Given the description of an element on the screen output the (x, y) to click on. 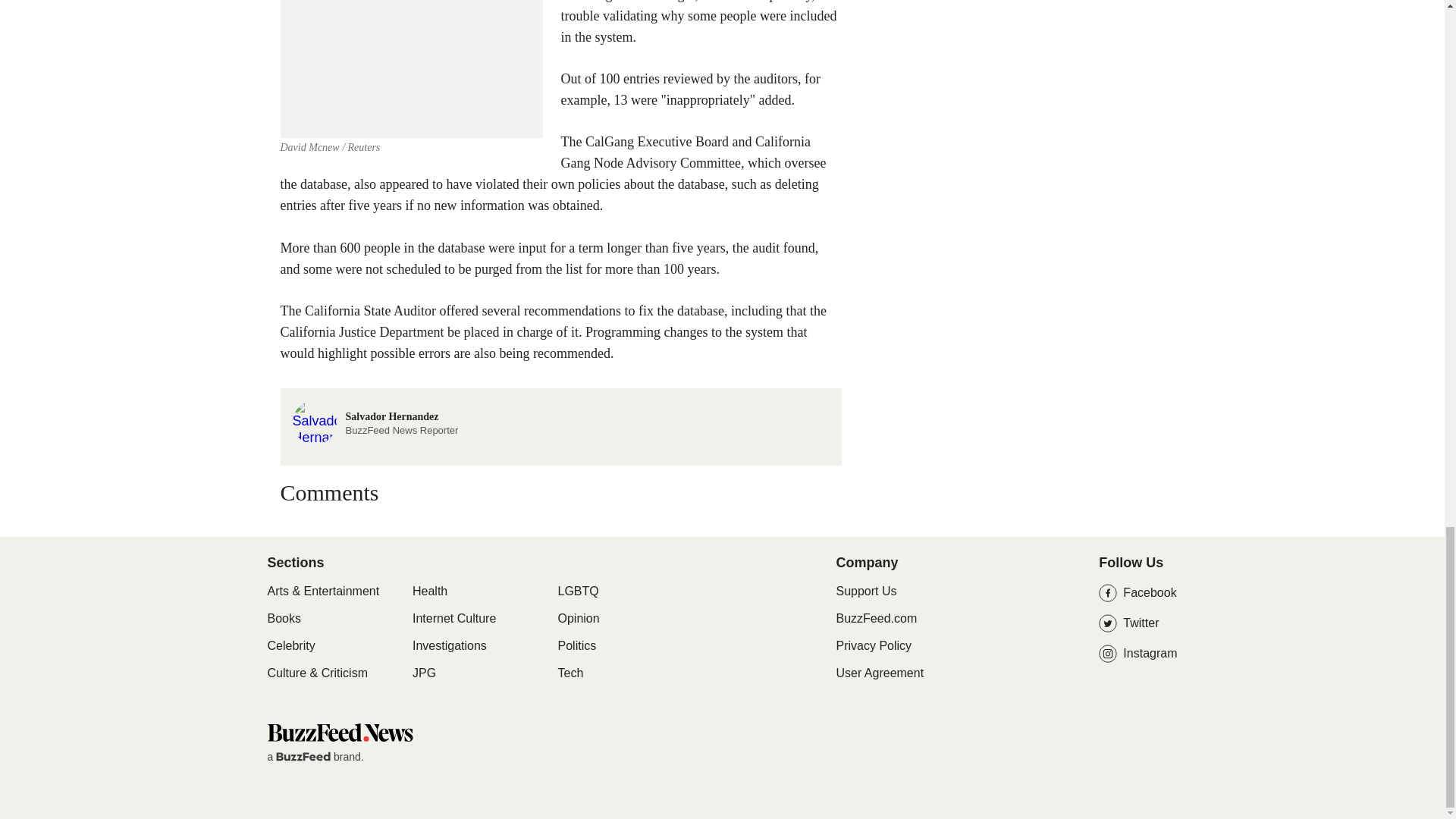
Privacy Policy (873, 645)
Health (429, 590)
Internet Culture (454, 618)
BuzzFeed (303, 756)
a BuzzFeed brand. (314, 756)
Politics (576, 645)
BuzzFeed News Home (339, 732)
BuzzFeed News Home (339, 737)
Tech (570, 672)
Opinion (578, 618)
